Given the description of an element on the screen output the (x, y) to click on. 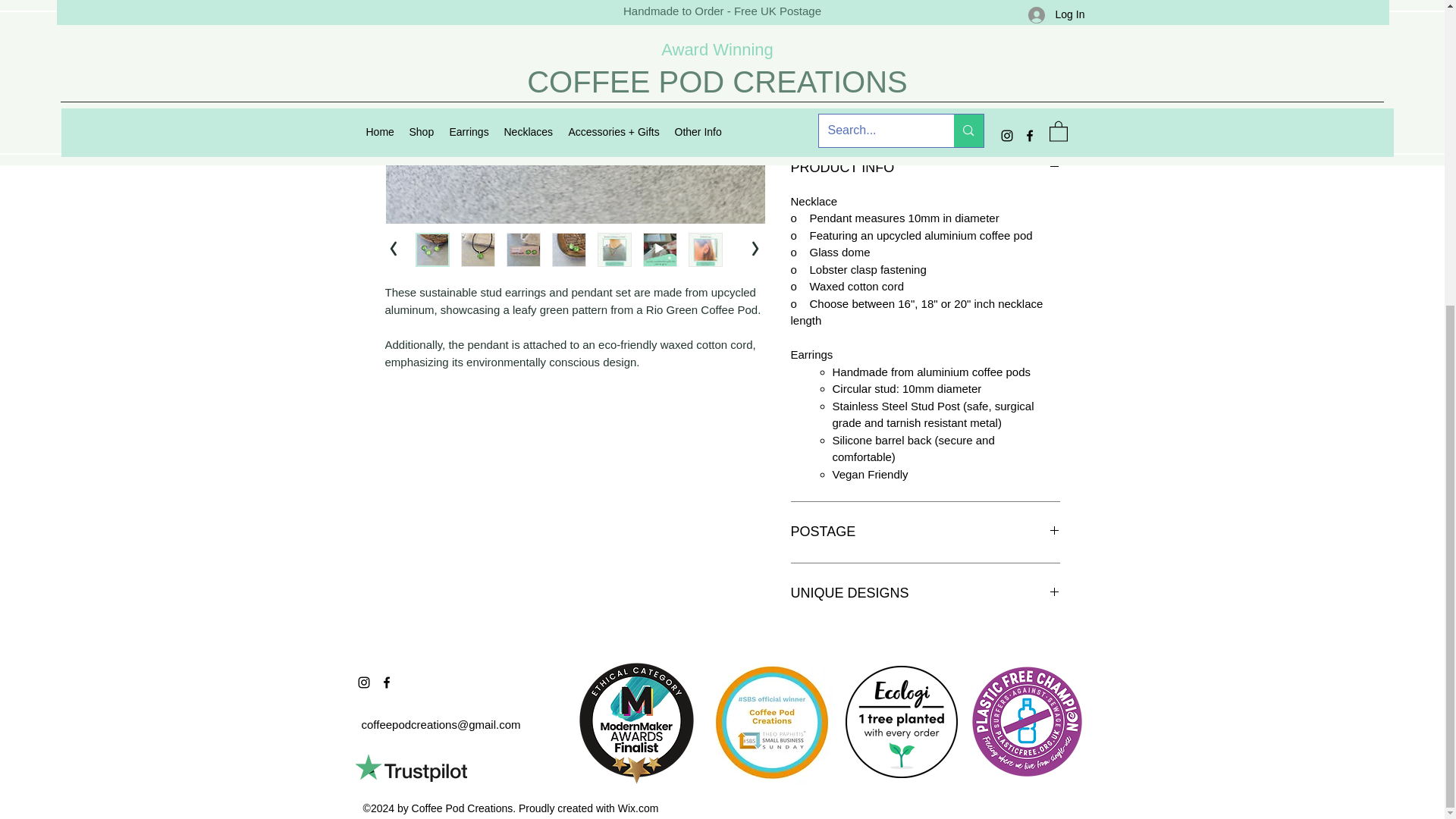
trust pilot (410, 767)
1 (827, 49)
Add to Cart (924, 105)
POSTAGE (924, 532)
Modern Maker Ethical Finalist (636, 721)
PRODUCT INFO (924, 168)
Coffee Pod Creations Small Business Sunday Winner (771, 723)
